Given the description of an element on the screen output the (x, y) to click on. 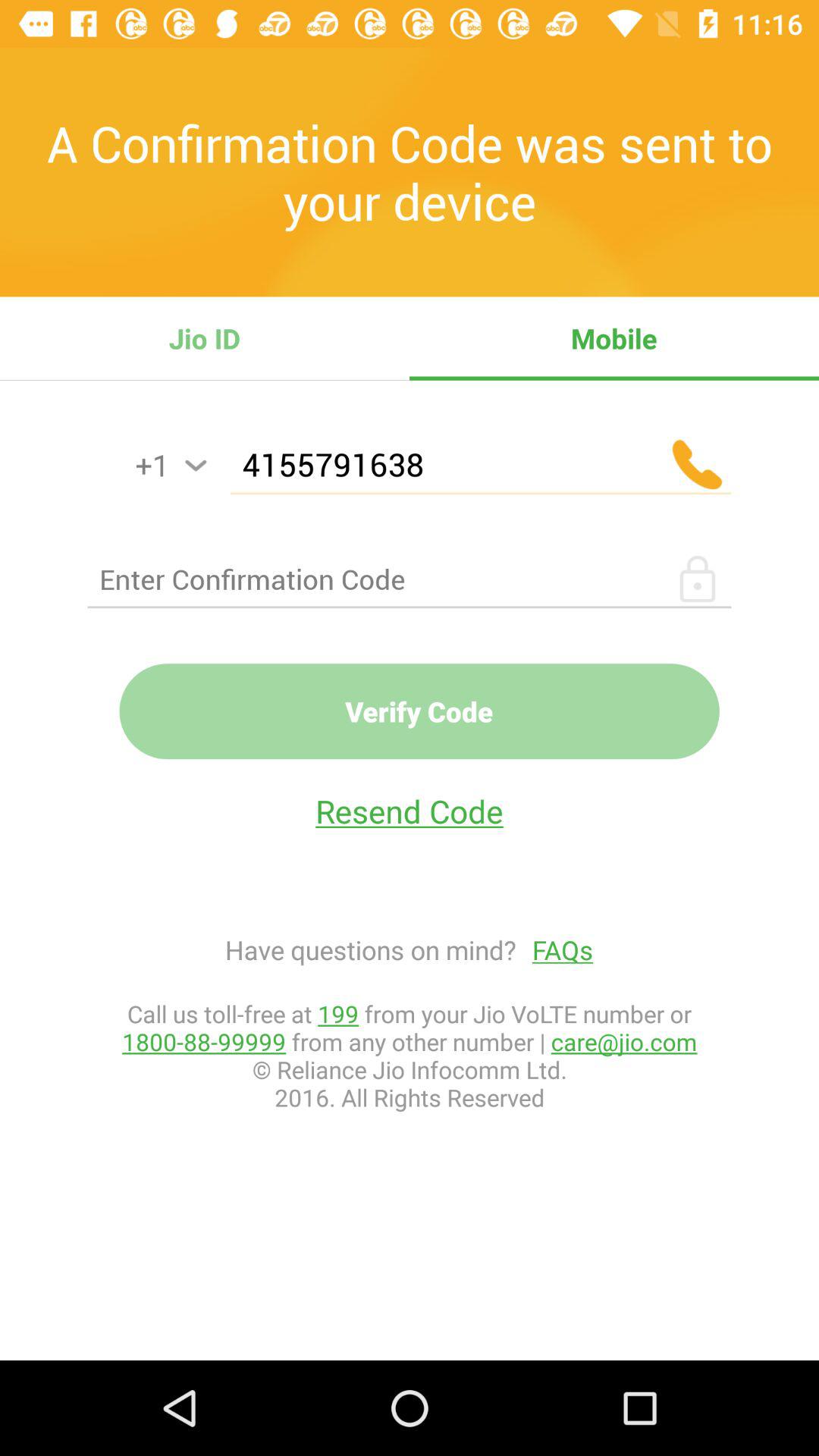
open item below the resend code item (554, 949)
